Given the description of an element on the screen output the (x, y) to click on. 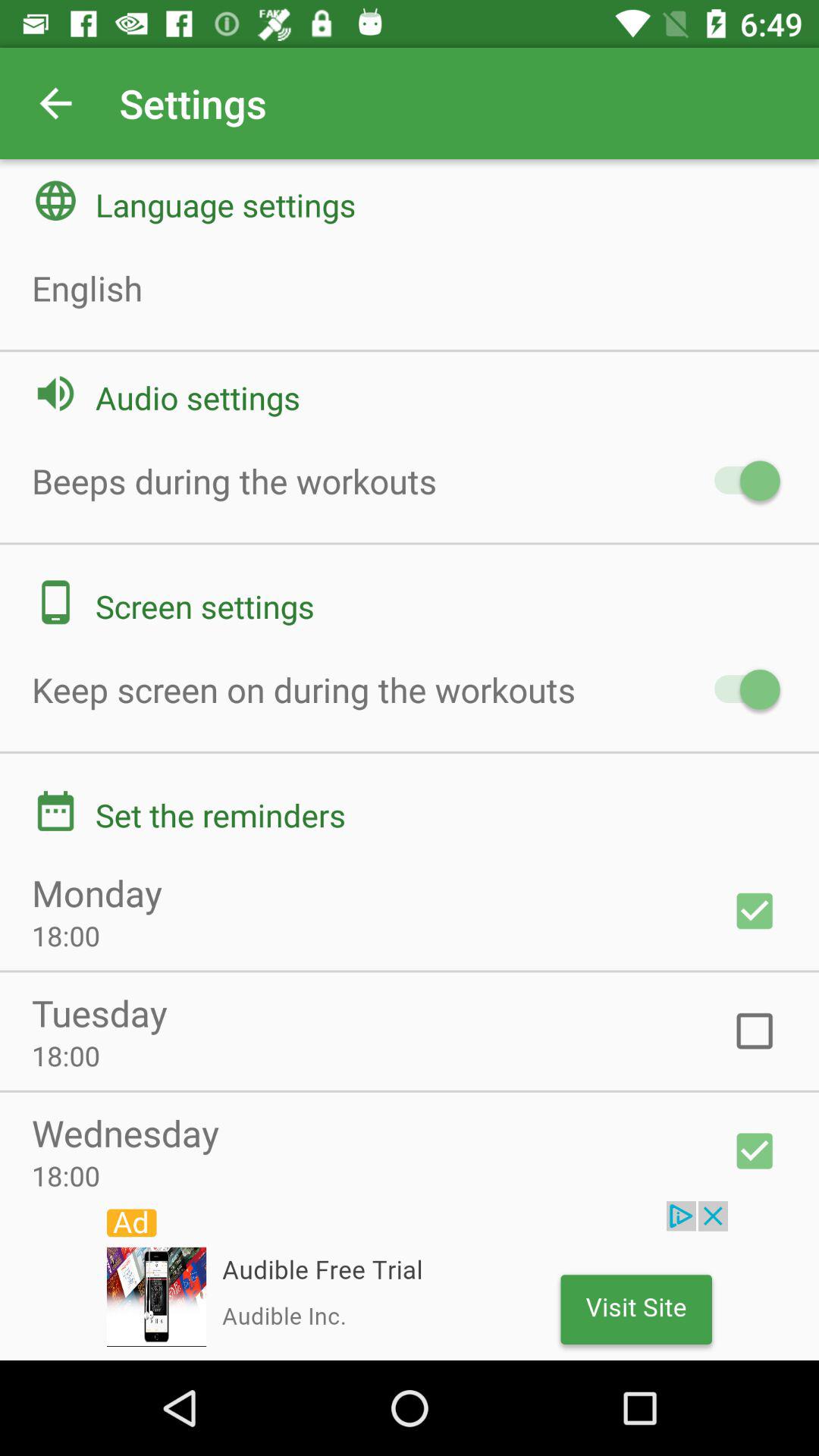
set your audio adjust (739, 480)
